Given the description of an element on the screen output the (x, y) to click on. 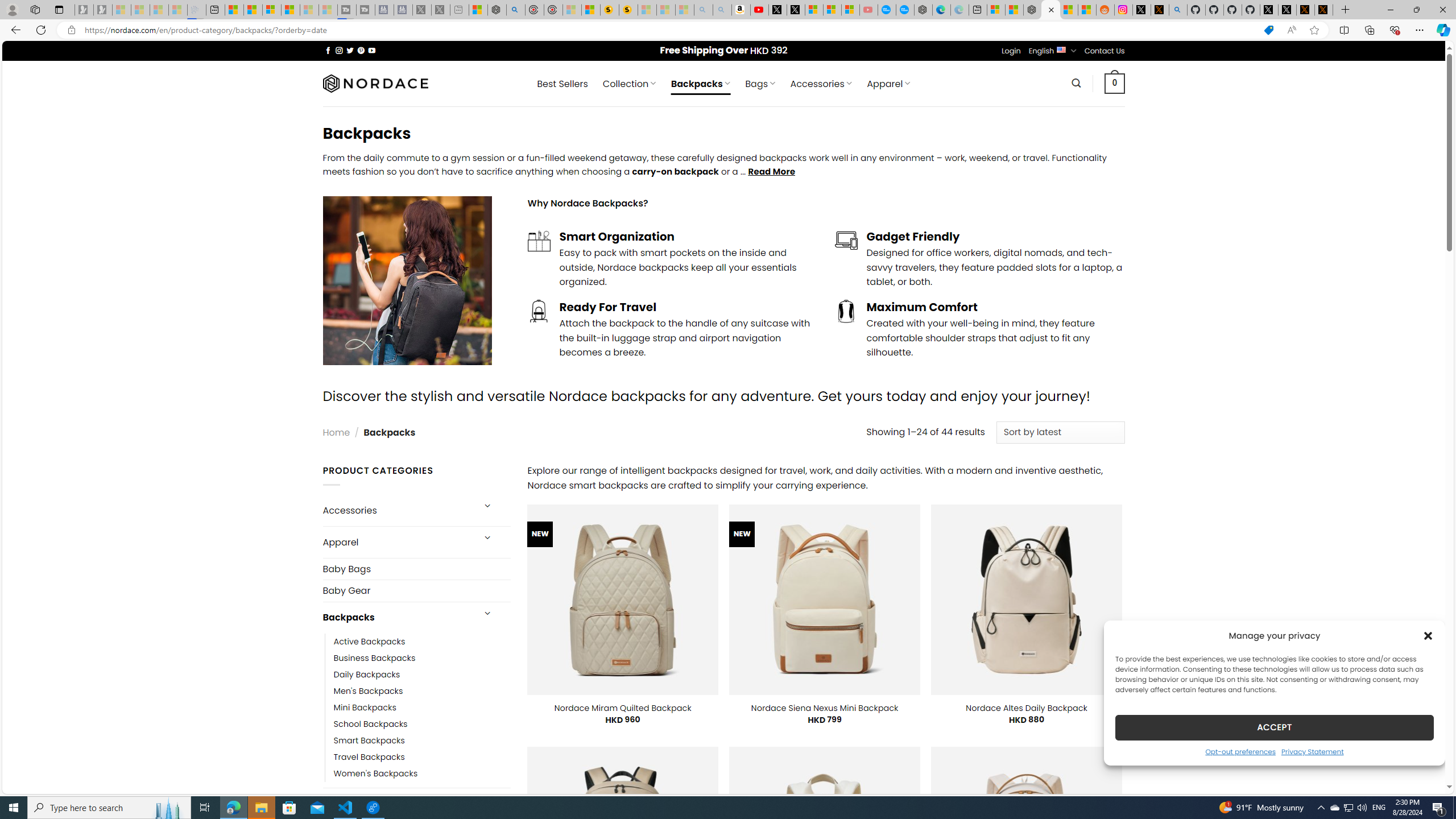
Profile / X (1268, 9)
Active Backpacks (422, 641)
School Backpacks (422, 723)
Accessories (397, 510)
Apparel (397, 542)
School Backpacks (370, 723)
